Given the description of an element on the screen output the (x, y) to click on. 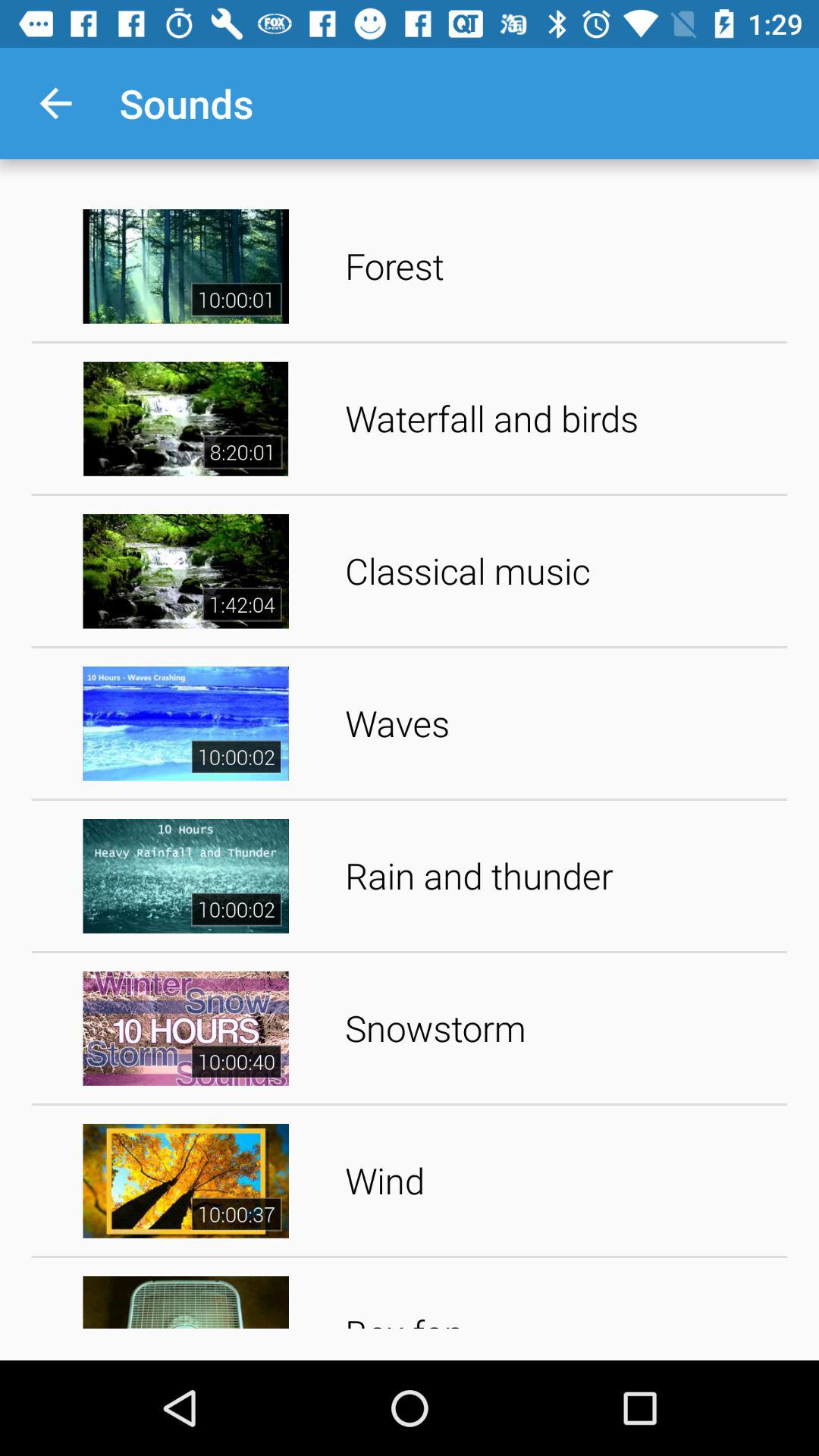
tap app below the forest (560, 418)
